Given the description of an element on the screen output the (x, y) to click on. 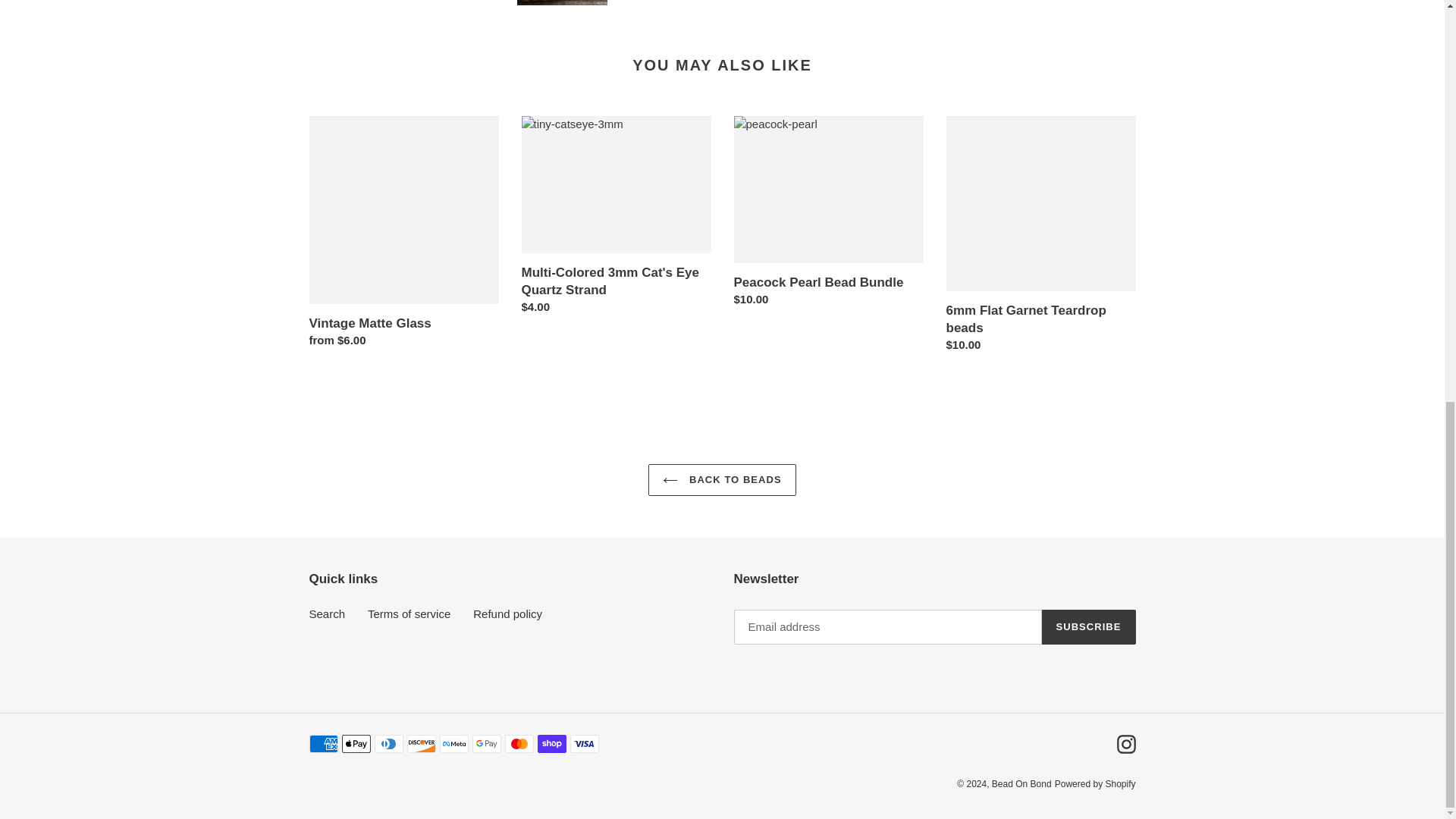
Search (327, 613)
Peacock Pearl Bead Bundle (828, 215)
BACK TO BEADS (720, 480)
Multi-Colored 3mm Cat's Eye Quartz Strand (616, 219)
